Given the description of an element on the screen output the (x, y) to click on. 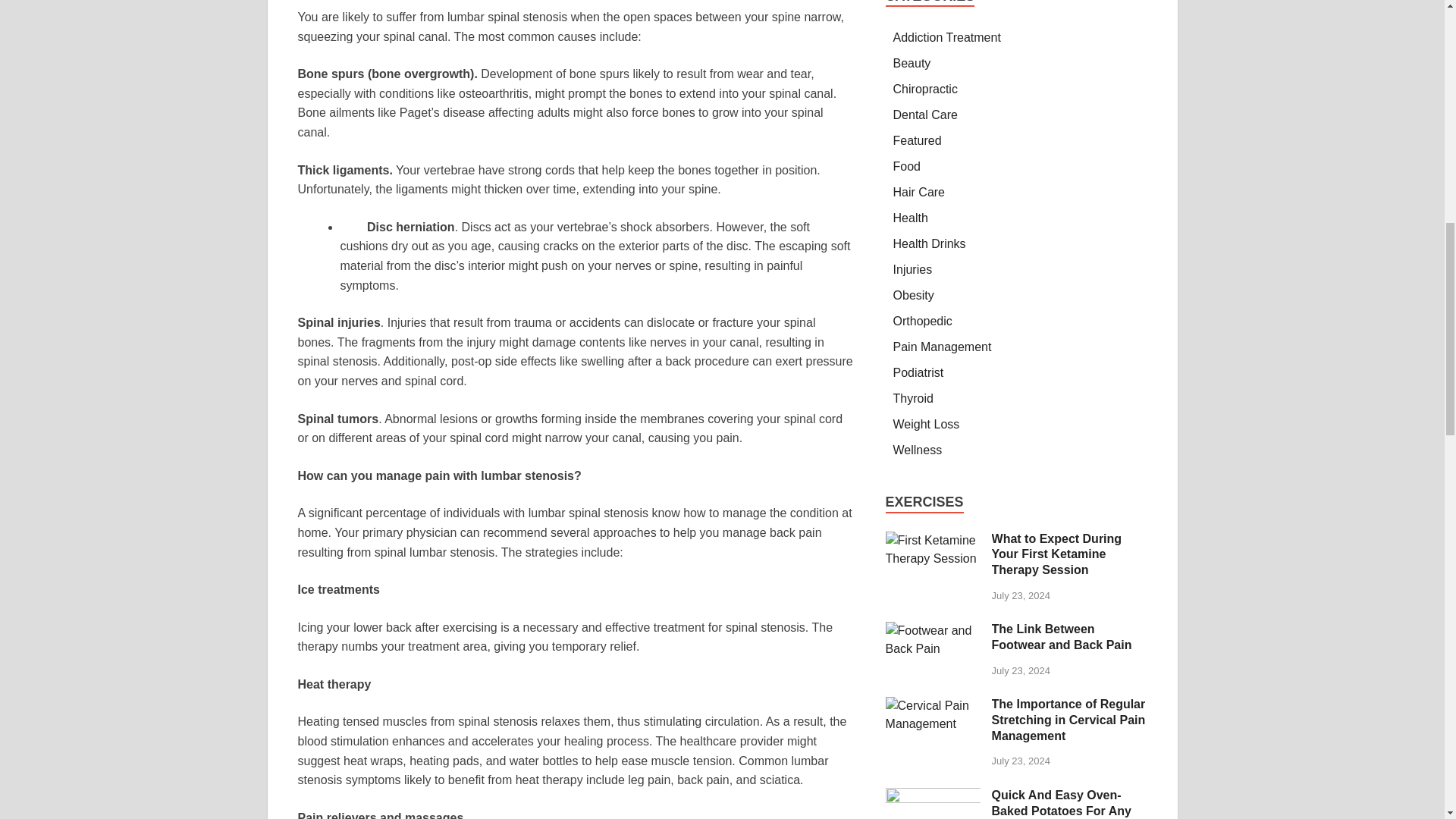
Quick And Easy Oven-Baked Potatoes For Any Meal (932, 796)
What to Expect During Your First Ketamine Therapy Session (932, 540)
The Link Between Footwear and Back Pain (932, 630)
